Given the description of an element on the screen output the (x, y) to click on. 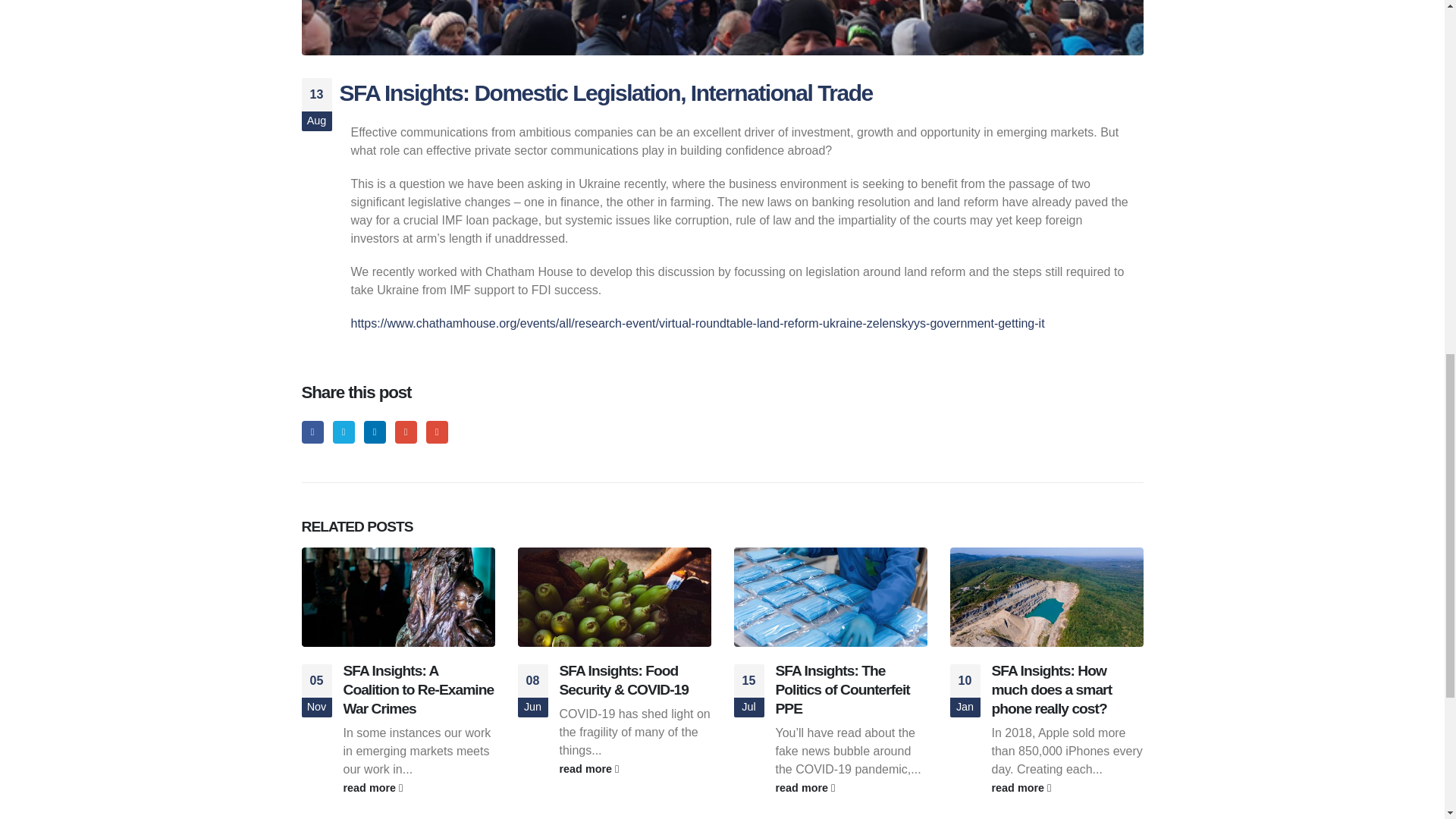
read more (1066, 787)
Email (437, 431)
read more (635, 769)
read more (850, 787)
LinkedIn (374, 431)
SFA Insights: The Politics of Counterfeit PPE (841, 689)
Facebook (312, 431)
Email (437, 431)
Twitter (344, 431)
LinkedIn (374, 431)
SFA Insights: A Coalition to Re-Examine War Crimes (417, 689)
Facebook (312, 431)
read more (418, 787)
Twitter (344, 431)
SFA Insights: How much does a smart phone really cost? (1051, 689)
